Given the description of an element on the screen output the (x, y) to click on. 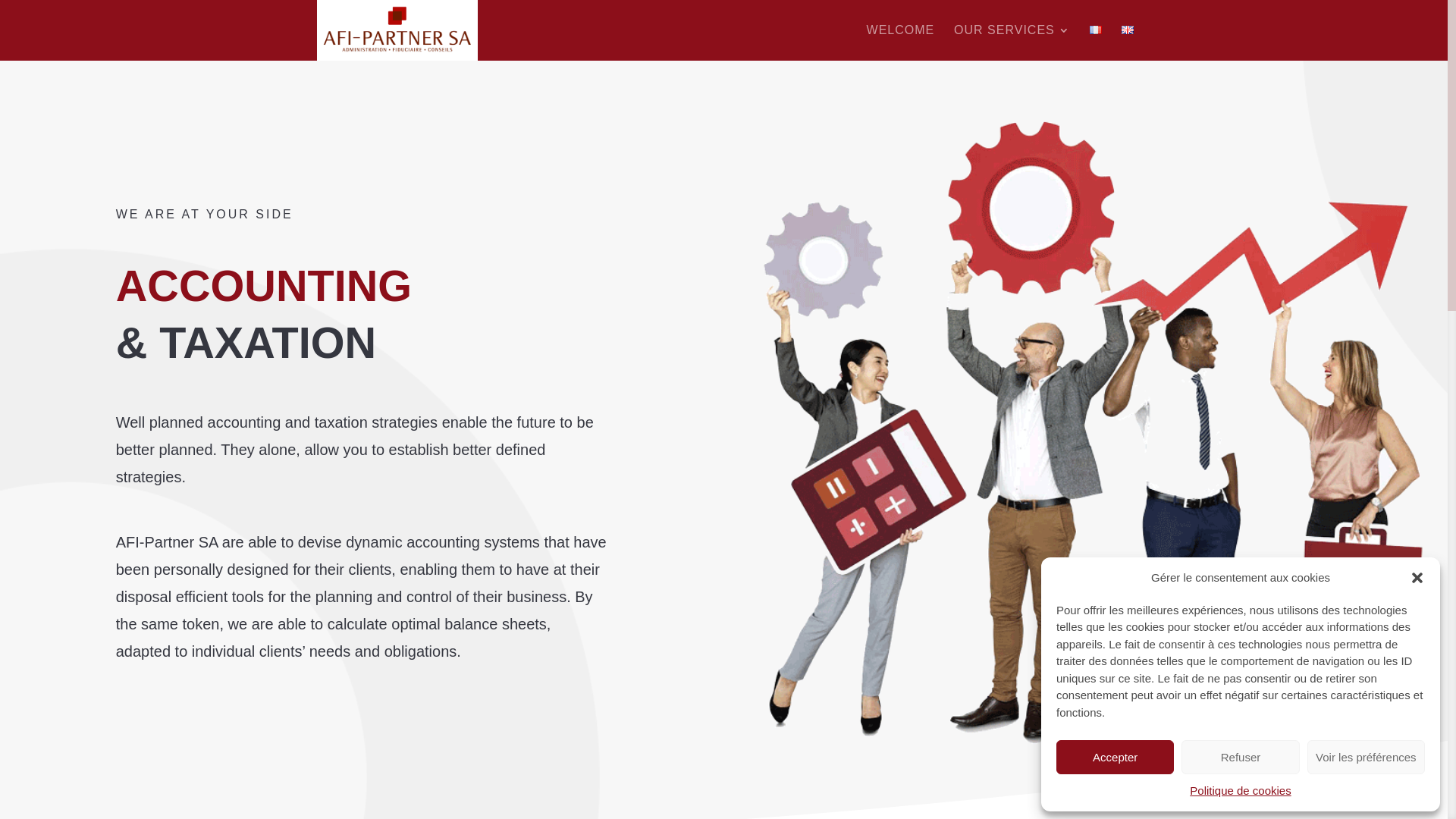
Accepter Element type: text (1114, 757)
WELCOME Element type: text (900, 42)
OUR SERVICES Element type: text (1011, 42)
Refuser Element type: text (1240, 757)
Politique de cookies Element type: text (1239, 790)
